Given the description of an element on the screen output the (x, y) to click on. 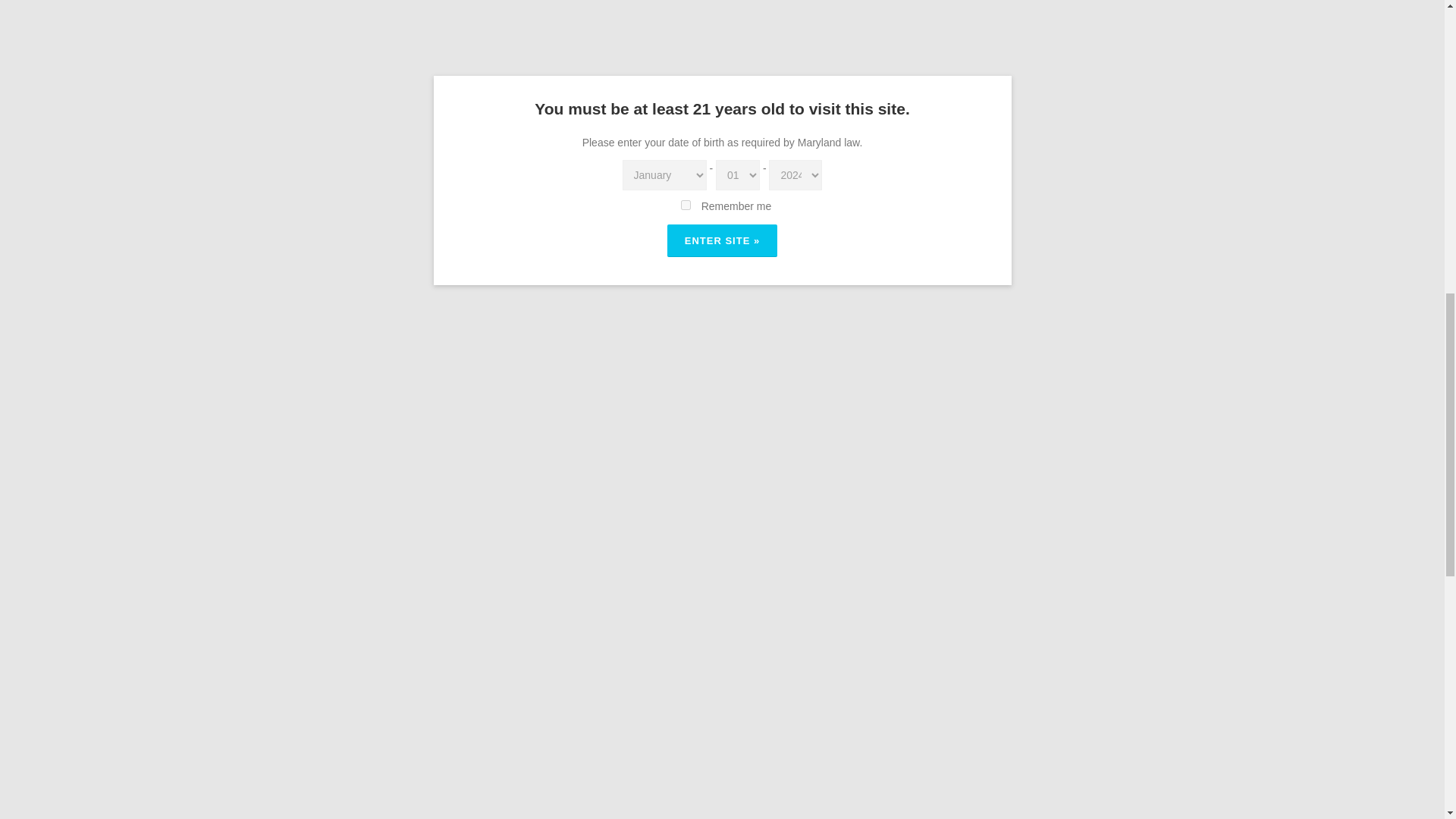
MEDICAL DISPENSARY (576, 590)
CANNABIS (499, 575)
NEWSLETTER (511, 555)
EVENTS (557, 575)
CANNABIS BASICS (416, 555)
BEST DISPENSARIES (407, 575)
MEDICAL CANNABIS (822, 575)
MARYLAND MEDICAL CANNABIS (673, 575)
MEDICAL CANNABIS PATIENT EVENTS (404, 590)
Search (1101, 396)
